Given the description of an element on the screen output the (x, y) to click on. 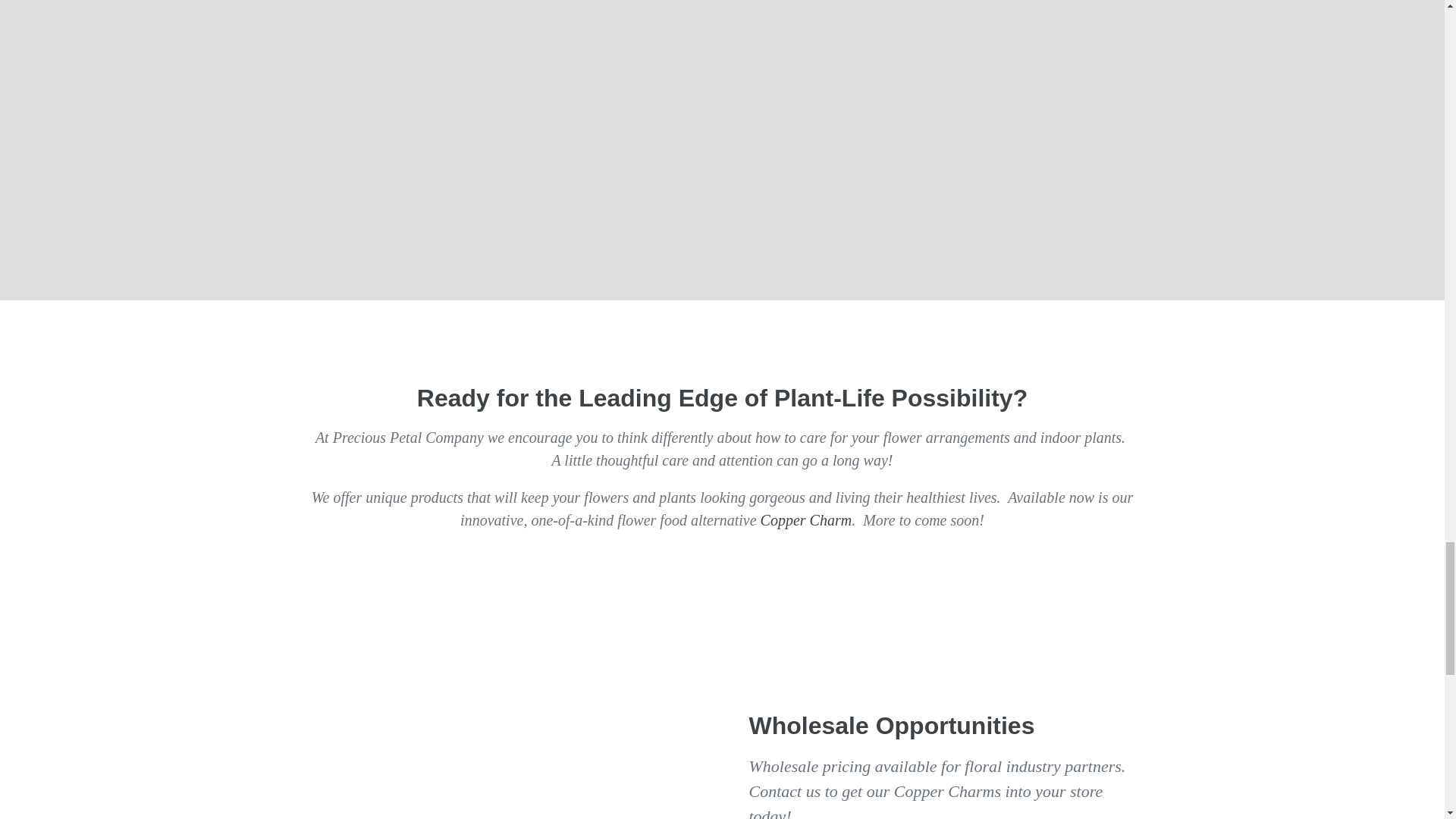
Copper Charm (805, 519)
